Given the description of an element on the screen output the (x, y) to click on. 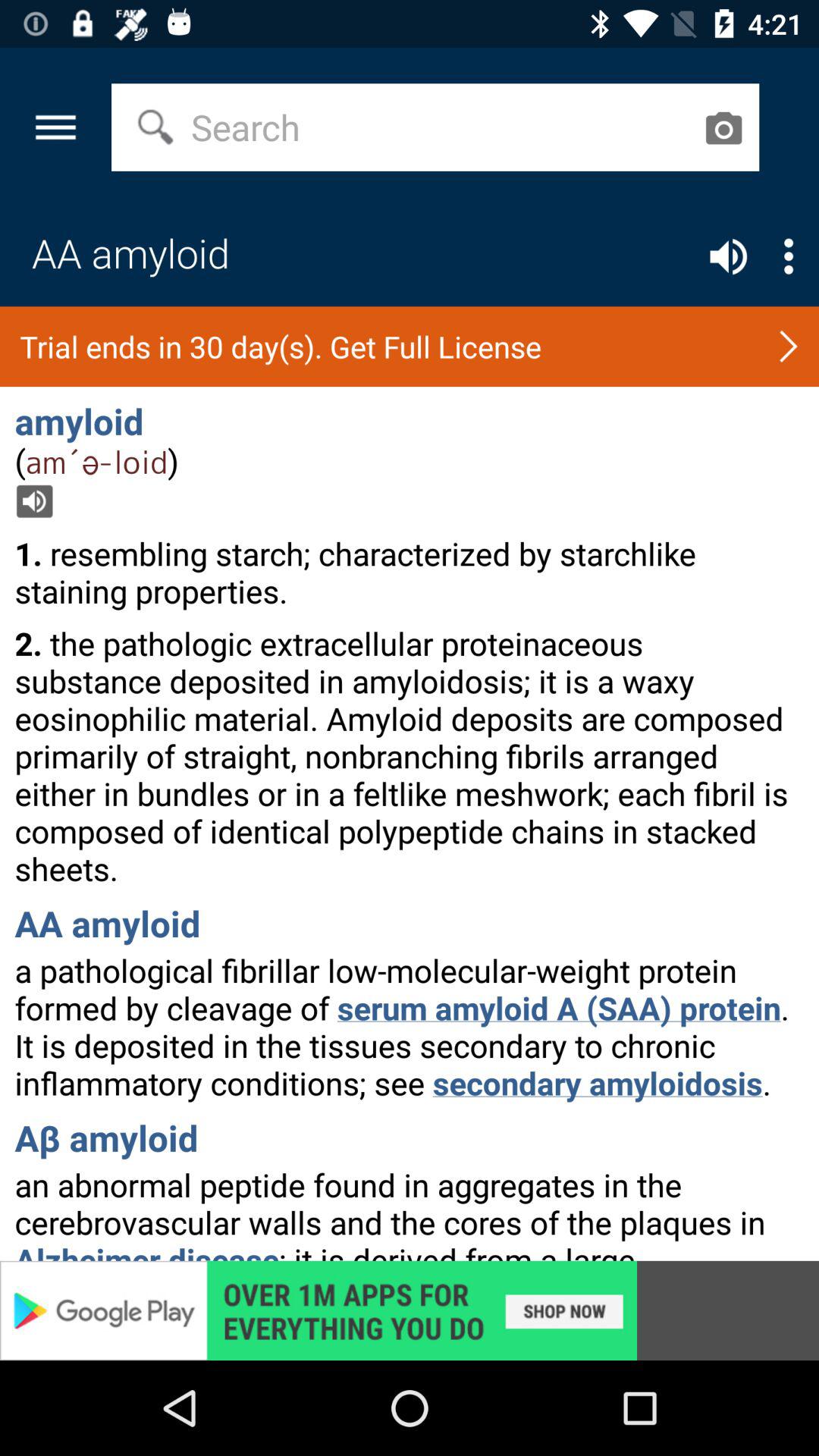
adjust volume (728, 256)
